Given the description of an element on the screen output the (x, y) to click on. 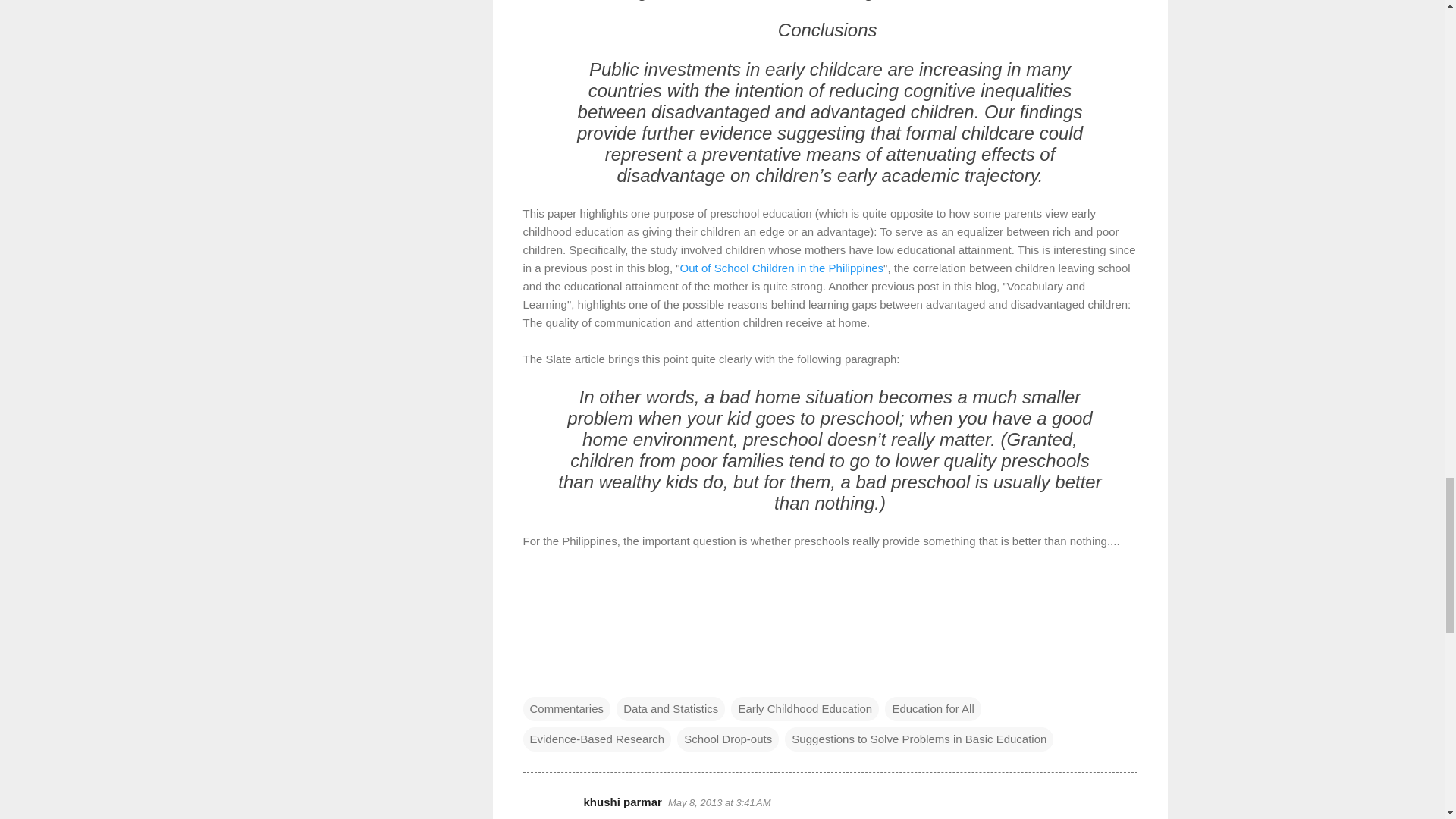
Data and Statistics (670, 708)
Education for All (932, 708)
Commentaries (566, 708)
Early Childhood Education (804, 708)
Suggestions to Solve Problems in Basic Education (918, 738)
School Drop-outs (727, 738)
Out of School Children in the Philippines (781, 267)
Evidence-Based Research (596, 738)
